Given the description of an element on the screen output the (x, y) to click on. 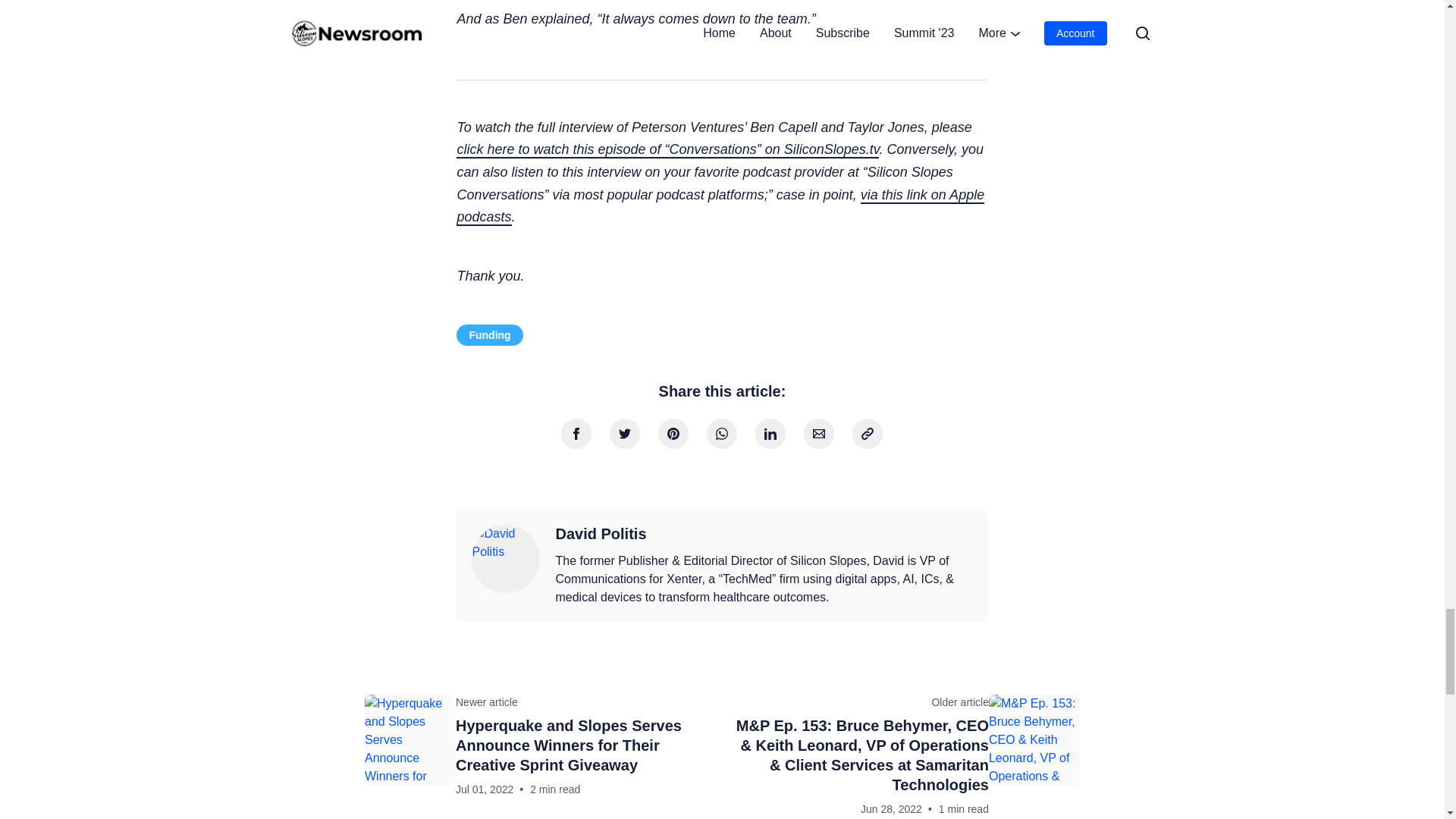
David Politis (505, 558)
Share on Pinterest (673, 433)
David Politis (600, 534)
Share on Twitter (625, 433)
Share on Facebook (575, 433)
Share on Whatsapp (721, 433)
Send via email (818, 433)
via this link on Apple podcasts (720, 206)
Funding (489, 334)
